Given the description of an element on the screen output the (x, y) to click on. 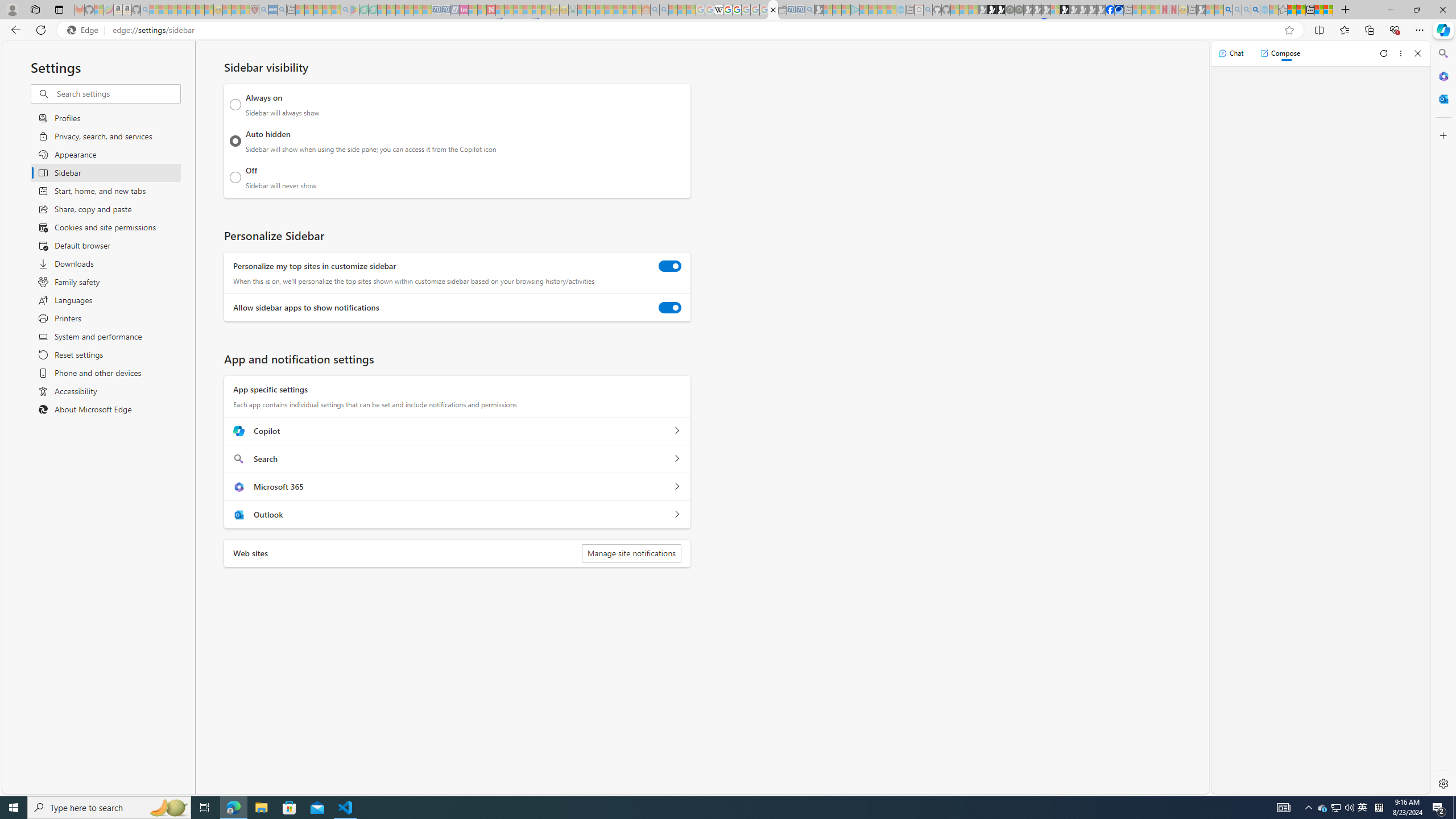
Privacy Help Center - Policies Help (726, 9)
Nordace | Facebook (1109, 9)
Bluey: Let's Play! - Apps on Google Play - Sleeping (354, 9)
